Given the description of an element on the screen output the (x, y) to click on. 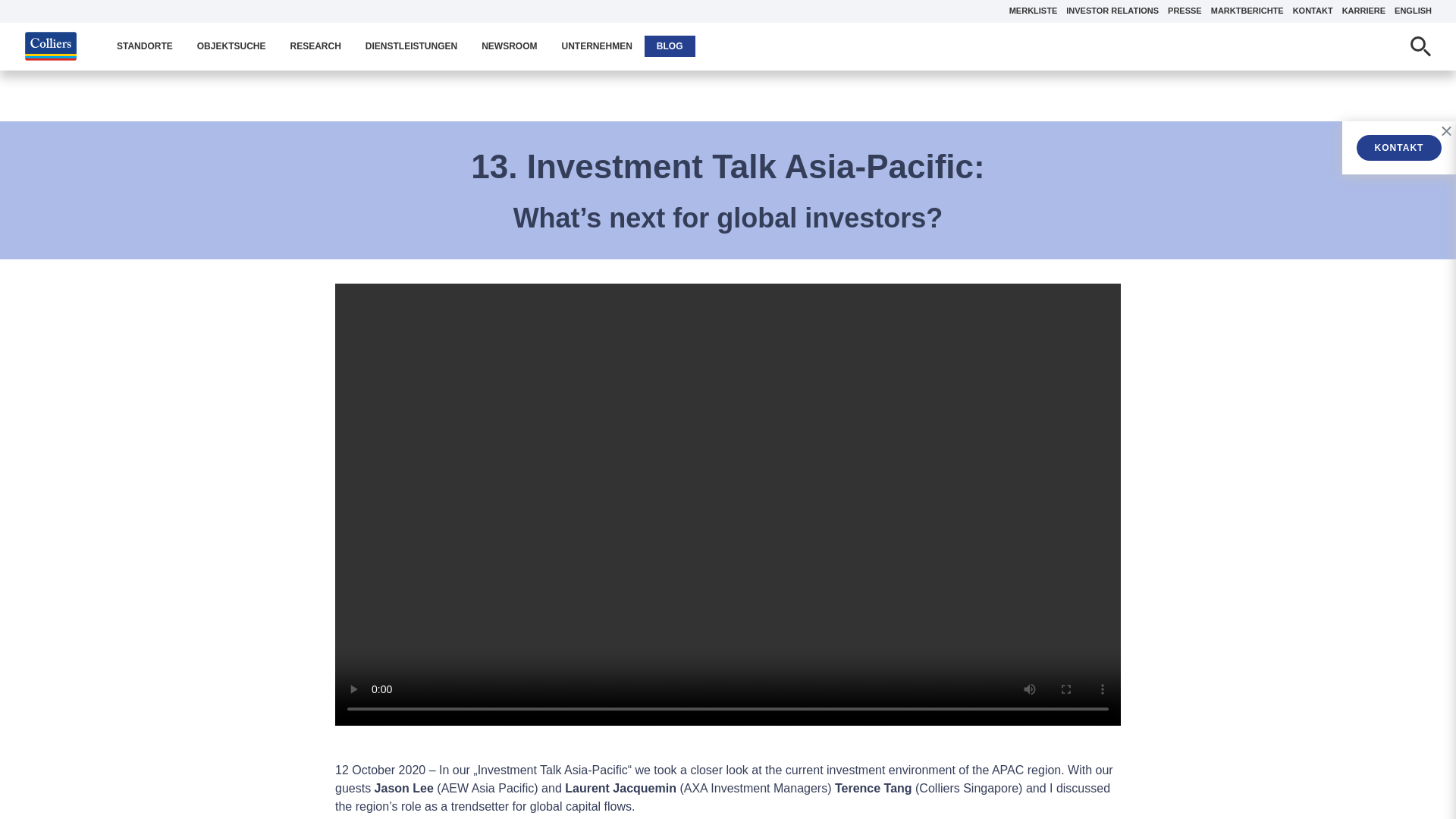
PRESSE (1184, 10)
ENGLISH (1412, 10)
OBJEKTSUCHE (231, 46)
MERKLISTE (1033, 11)
INVESTOR RELATIONS (1111, 10)
RESEARCH (314, 46)
MARKTBERICHTE (1247, 10)
KARRIERE (1364, 10)
KONTAKT (1312, 10)
DIENSTLEISTUNGEN (411, 46)
STANDORTE (144, 46)
